Given the description of an element on the screen output the (x, y) to click on. 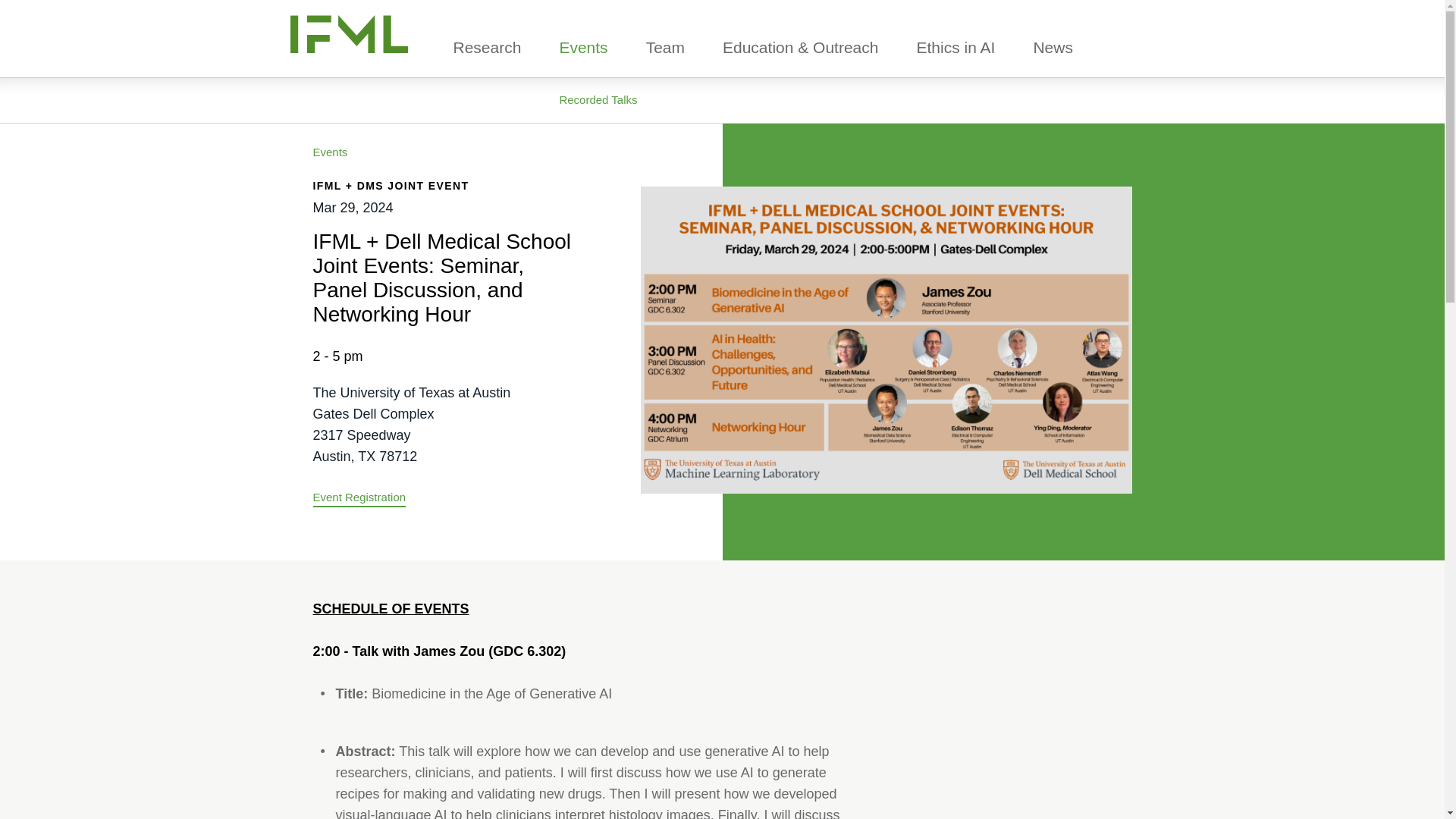
Event Registration (359, 498)
News (1052, 47)
Research (486, 47)
Events (583, 47)
Team (665, 47)
Recorded Talks (598, 99)
Ethics in AI (954, 47)
